Given the description of an element on the screen output the (x, y) to click on. 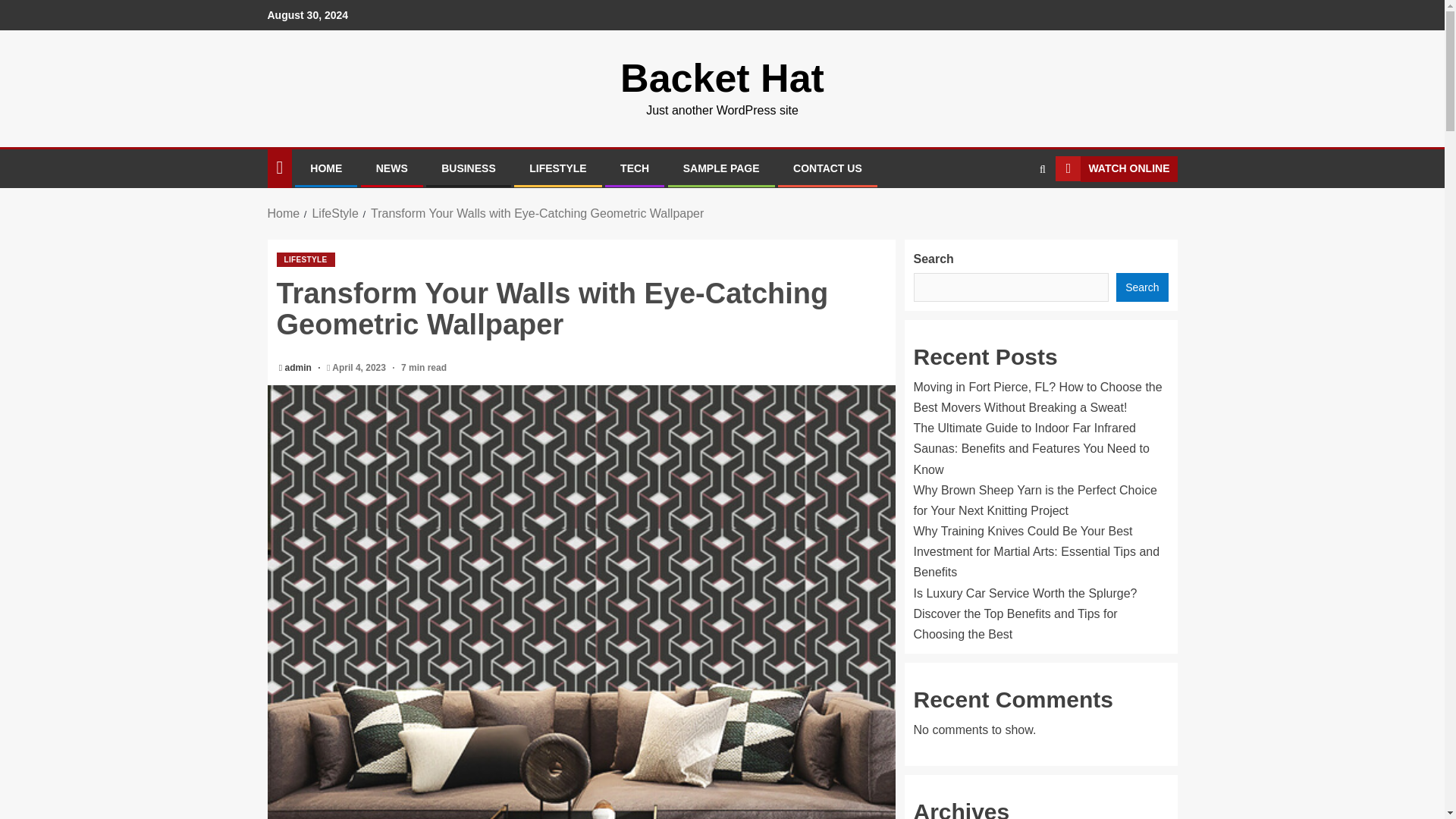
NEWS (391, 168)
Home (282, 213)
Search (1013, 214)
admin (299, 367)
LIFESTYLE (305, 259)
HOME (326, 168)
Search (1141, 287)
BUSINESS (468, 168)
LifeStyle (334, 213)
